Given the description of an element on the screen output the (x, y) to click on. 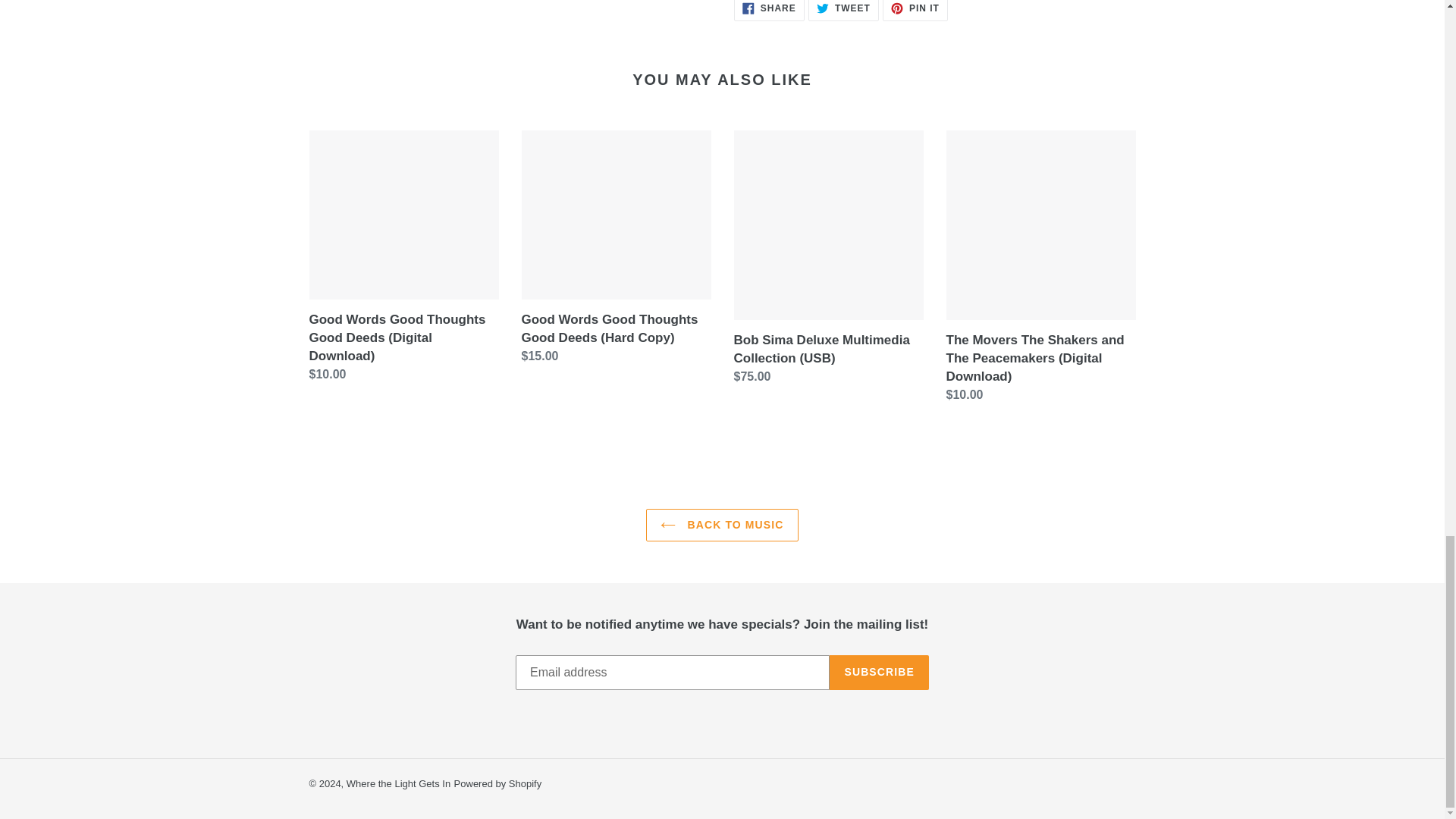
BACK TO MUSIC (769, 10)
Where the Light Gets In (721, 523)
SUBSCRIBE (397, 783)
Powered by Shopify (878, 672)
